Given the description of an element on the screen output the (x, y) to click on. 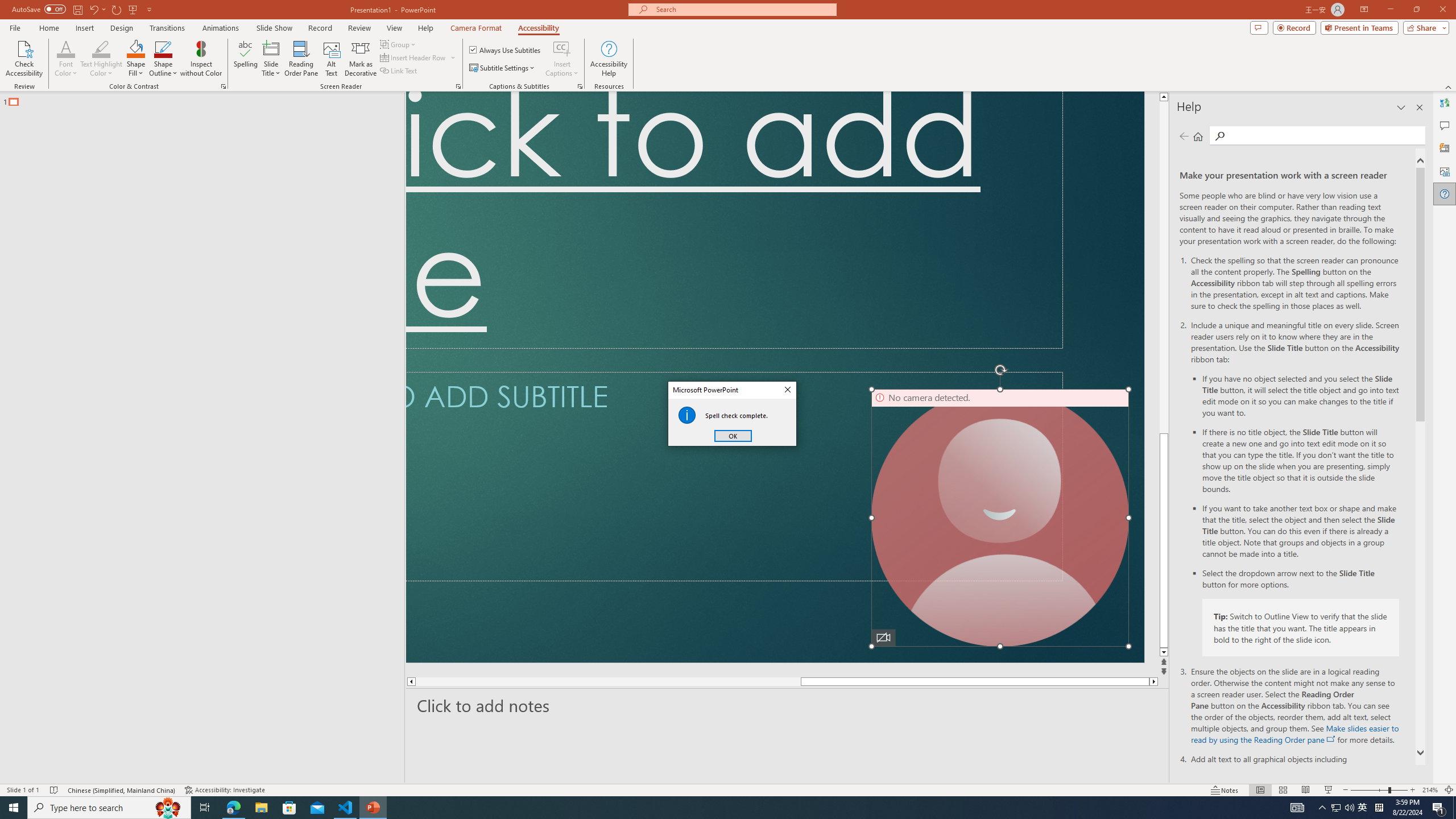
Screen Reader (458, 85)
Microsoft Edge - 1 running window (233, 807)
Slide Title (271, 48)
